Given the description of an element on the screen output the (x, y) to click on. 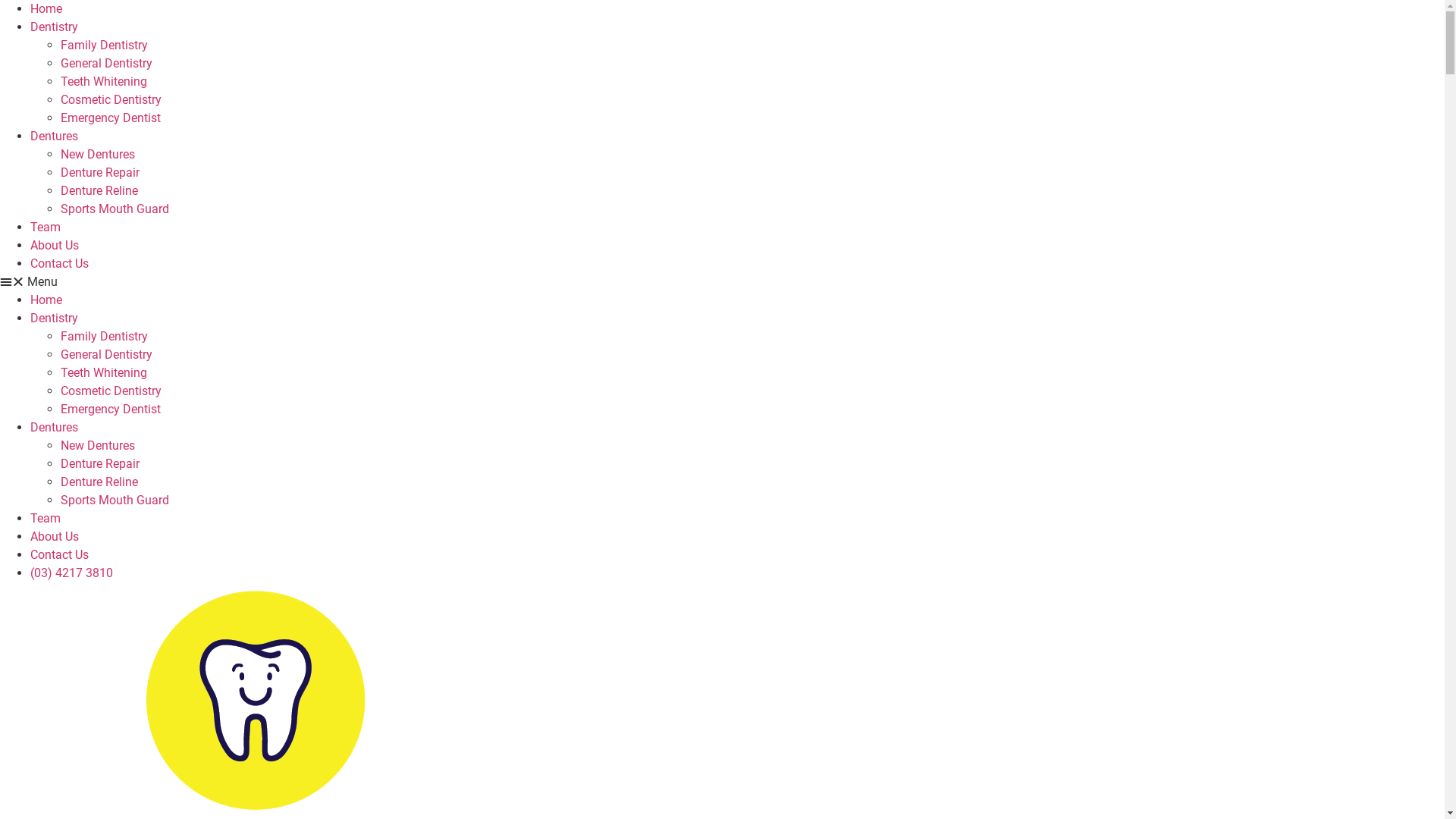
Dentures Element type: text (54, 427)
Team Element type: text (45, 518)
Teeth Whitening Element type: text (103, 81)
Contact Us Element type: text (59, 554)
Denture Reline Element type: text (99, 190)
Home Element type: text (46, 299)
Dentistry Element type: text (54, 317)
Emergency Dentist Element type: text (110, 408)
Cosmetic Dentistry Element type: text (110, 390)
Sports Mouth Guard Element type: text (114, 499)
Denture Repair Element type: text (99, 463)
Sports Mouth Guard Element type: text (114, 208)
Contact Us Element type: text (59, 263)
Home Element type: text (46, 8)
Emergency Dentist Element type: text (110, 117)
New Dentures Element type: text (97, 445)
New Dentures Element type: text (97, 154)
Family Dentistry Element type: text (103, 336)
Family Dentistry Element type: text (103, 44)
Denture Repair Element type: text (99, 172)
Dentistry Element type: text (54, 26)
General Dentistry Element type: text (106, 63)
(03) 4217 3810 Element type: text (71, 572)
Dentures Element type: text (54, 135)
About Us Element type: text (54, 536)
Denture Reline Element type: text (99, 481)
Team Element type: text (45, 226)
About Us Element type: text (54, 245)
General Dentistry Element type: text (106, 354)
Cosmetic Dentistry Element type: text (110, 99)
Teeth Whitening Element type: text (103, 372)
